Given the description of an element on the screen output the (x, y) to click on. 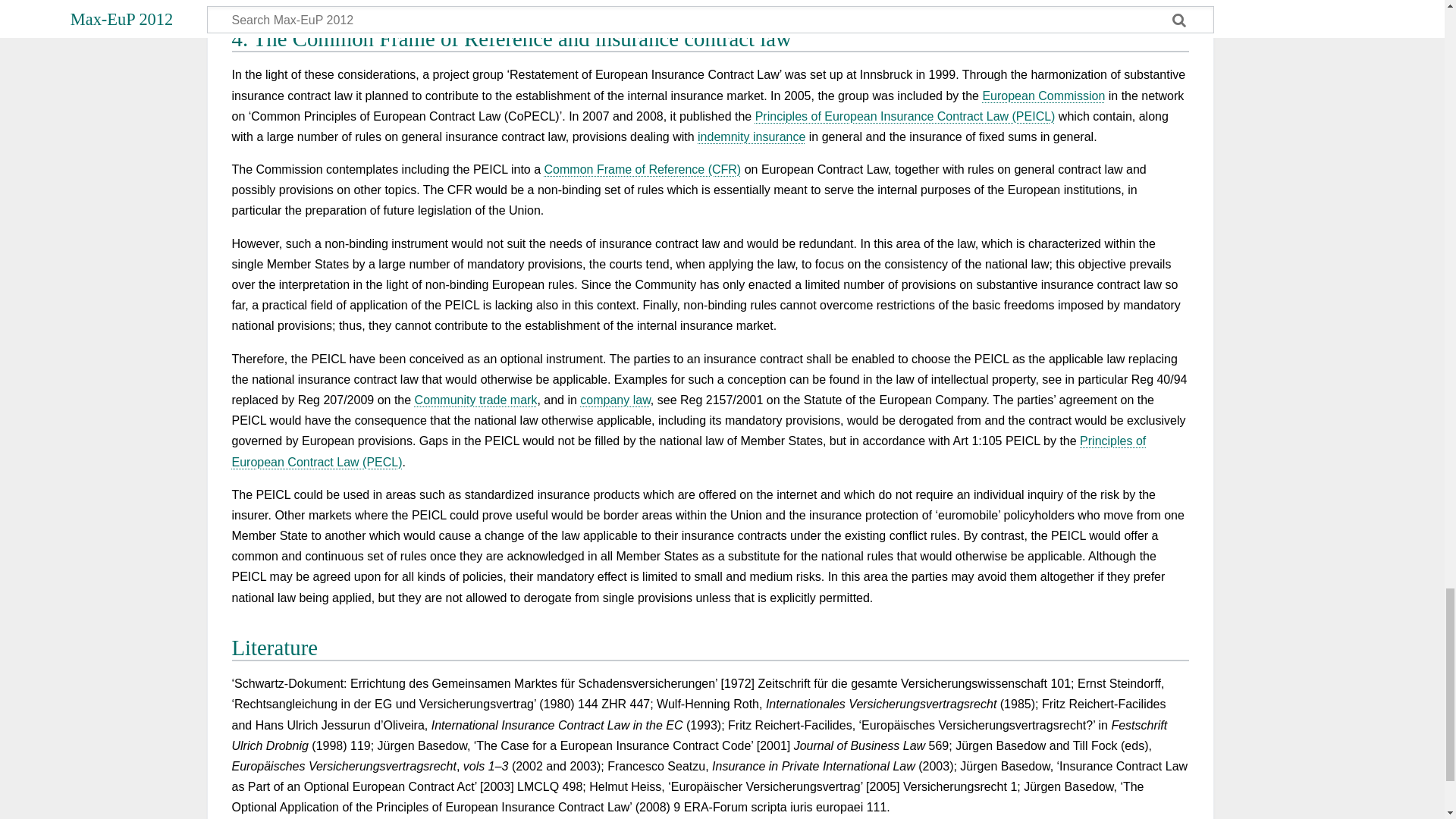
European Commission (1043, 95)
Community trade mark (475, 399)
indemnity insurance (751, 136)
company law (614, 399)
